Given the description of an element on the screen output the (x, y) to click on. 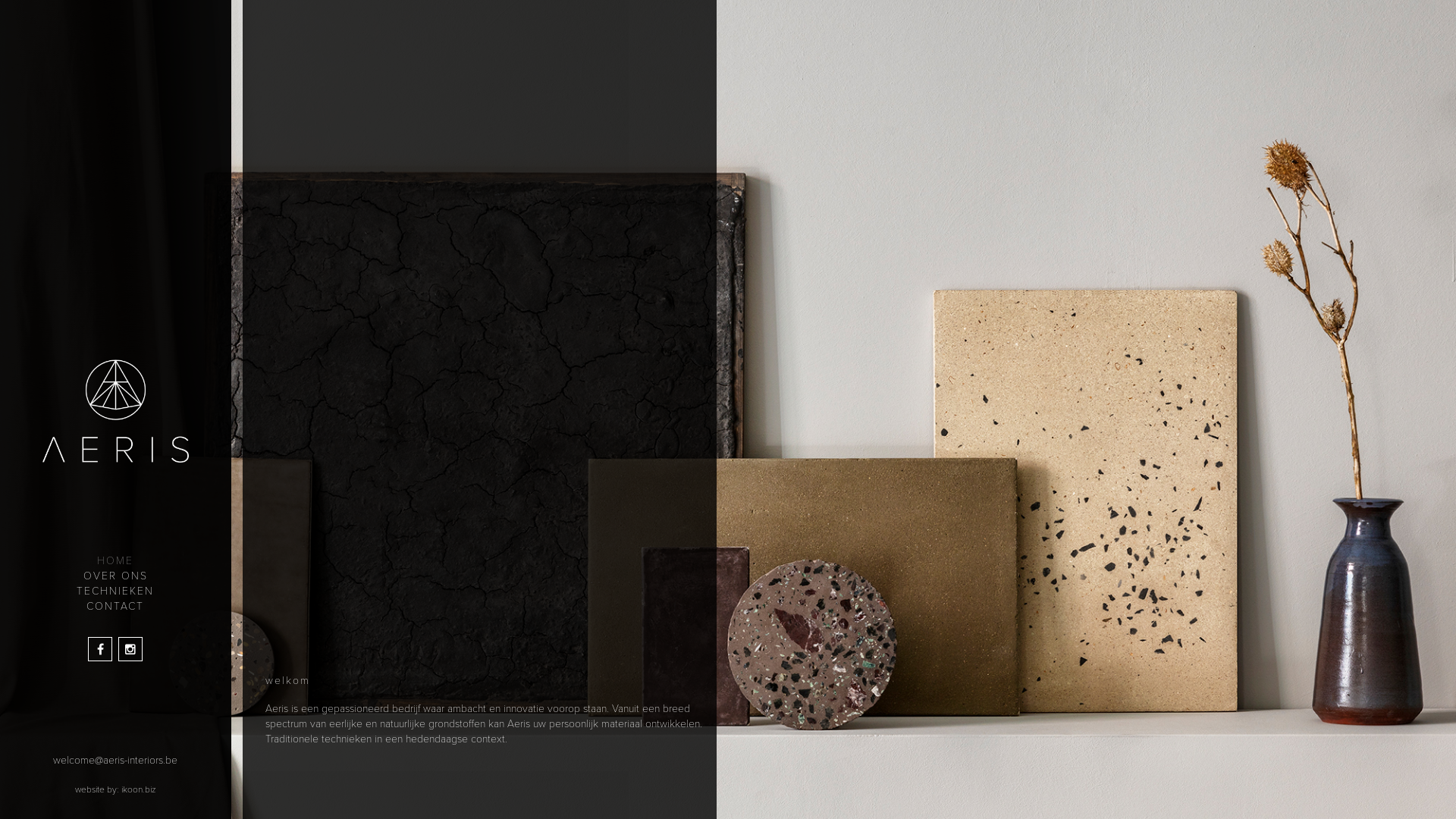
HOME Element type: text (115, 560)
Home Element type: hover (115, 418)
CONTACT Element type: text (115, 606)
Facebook Element type: text (99, 649)
welcome@aeris-interiors.be Element type: text (115, 760)
Instagram Element type: text (130, 649)
Overslaan en naar de inhoud gaan Element type: text (0, 0)
OVER ONS Element type: text (115, 575)
ikoon.biz Element type: text (138, 789)
TECHNIEKEN Element type: text (115, 591)
